Given the description of an element on the screen output the (x, y) to click on. 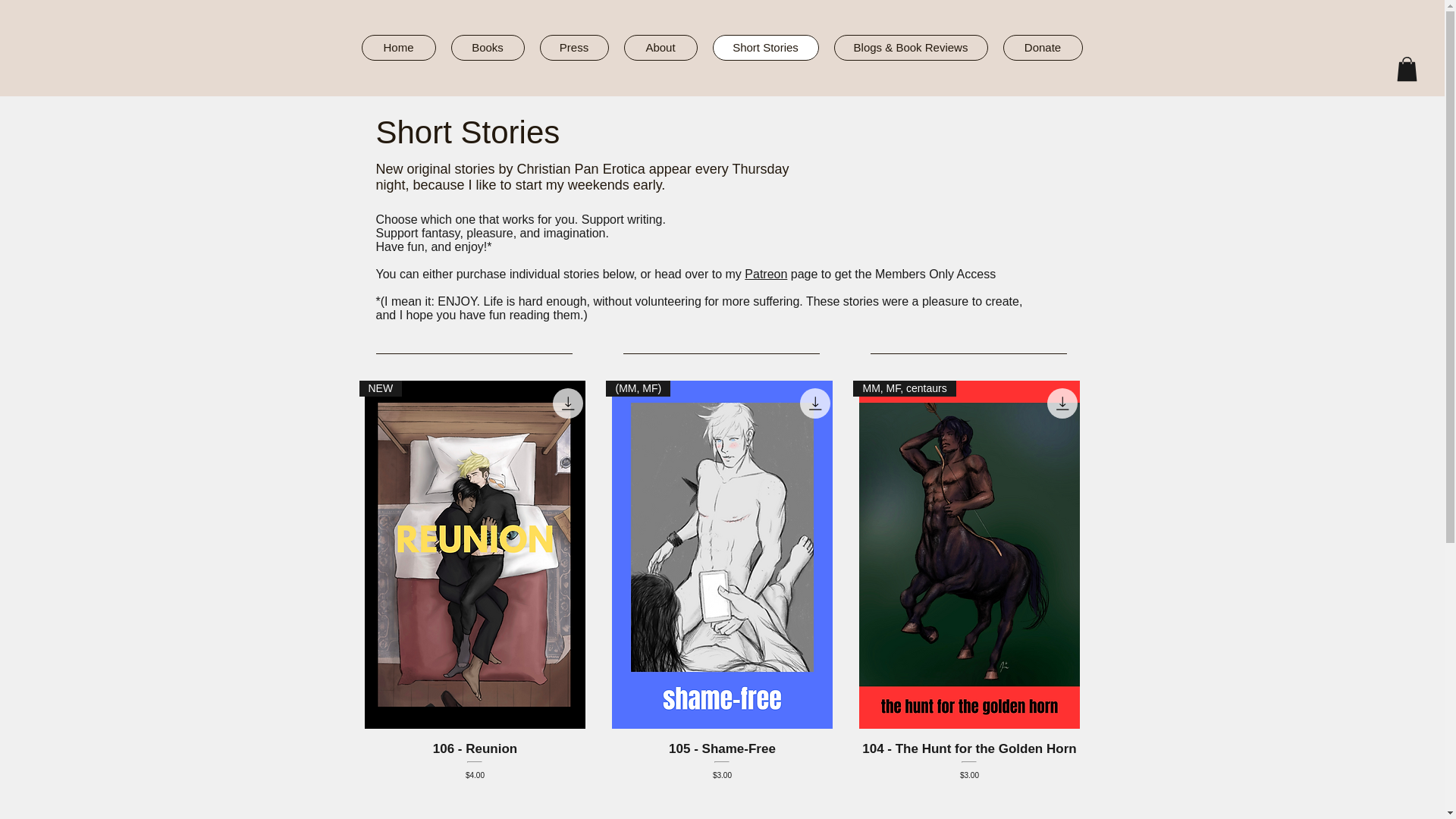
Short Stories (765, 47)
Books (486, 47)
About (660, 47)
Home (398, 47)
Press (574, 47)
Donate (1042, 47)
Patreon (765, 273)
